Given the description of an element on the screen output the (x, y) to click on. 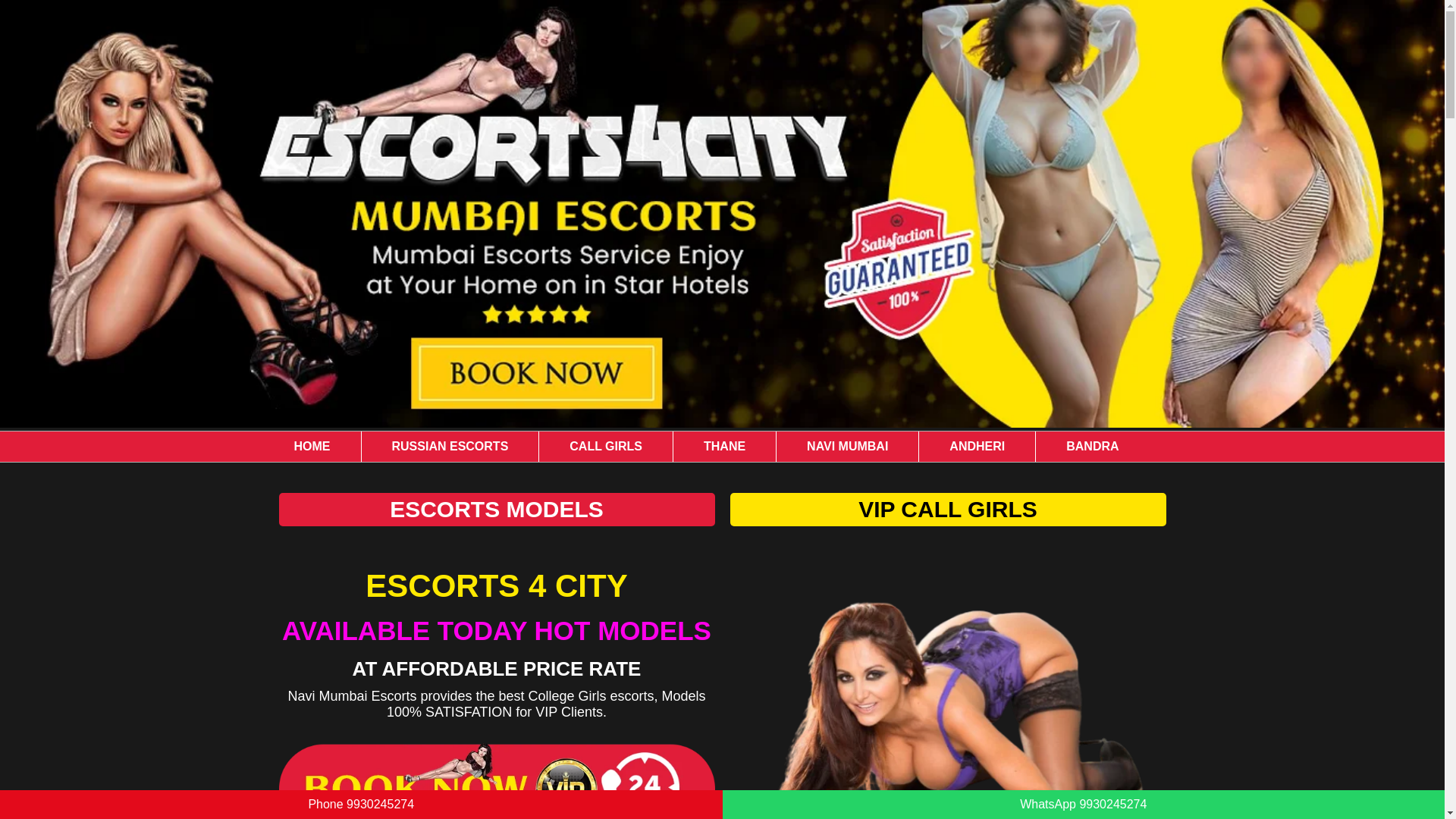
New Navi Mumbai Escorts Phone WhatsApp (496, 780)
VIP CALL GIRLS (947, 509)
RUSSIAN ESCORTS (449, 446)
HOME (312, 446)
NAVI MUMBAI (847, 446)
BANDRA (1091, 446)
CALL GIRLS (605, 446)
THANE (724, 446)
New Navi Mumbai call girls whatsapp Number (947, 687)
ANDHERI (976, 446)
ESCORTS MODELS (496, 509)
